Given the description of an element on the screen output the (x, y) to click on. 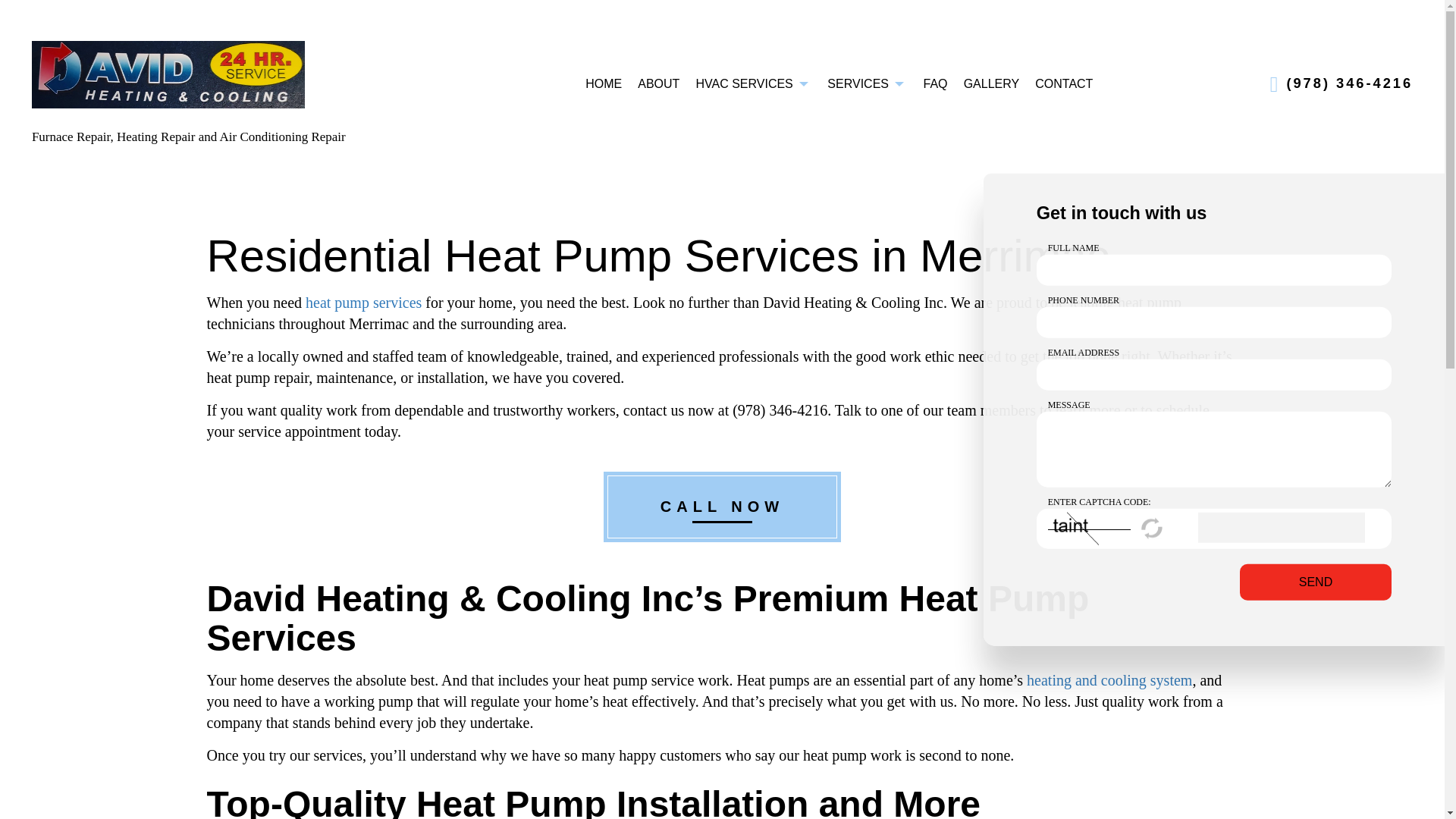
Phone Number (1213, 322)
Enter Captcha (1281, 527)
Email Address (1213, 374)
Enter your message (1213, 449)
Refresh Captcha (1152, 528)
Full Name (1213, 269)
